Given the description of an element on the screen output the (x, y) to click on. 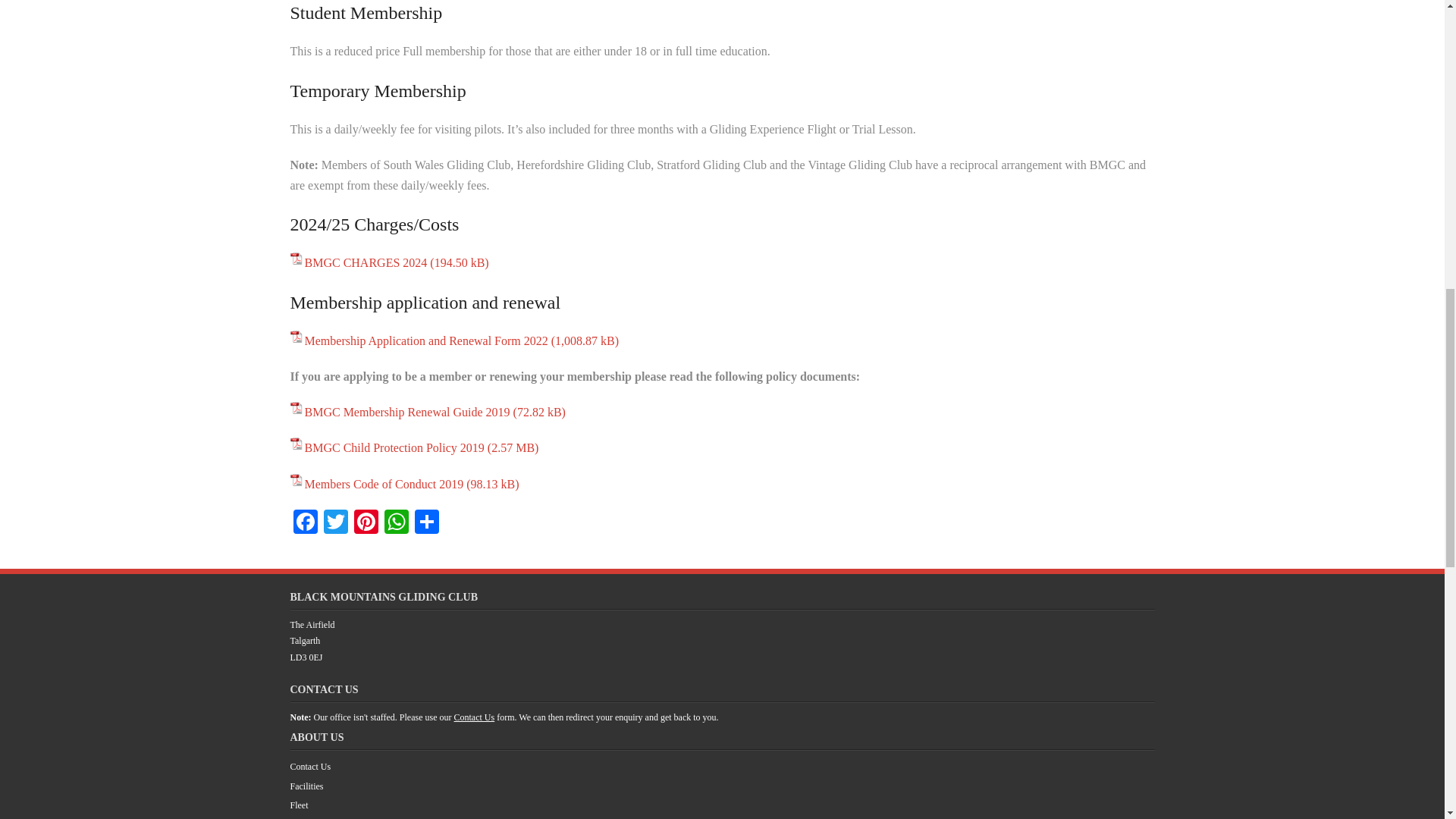
WhatsApp (395, 523)
Pinterest (365, 523)
Twitter (335, 523)
Facebook (304, 523)
